Given the description of an element on the screen output the (x, y) to click on. 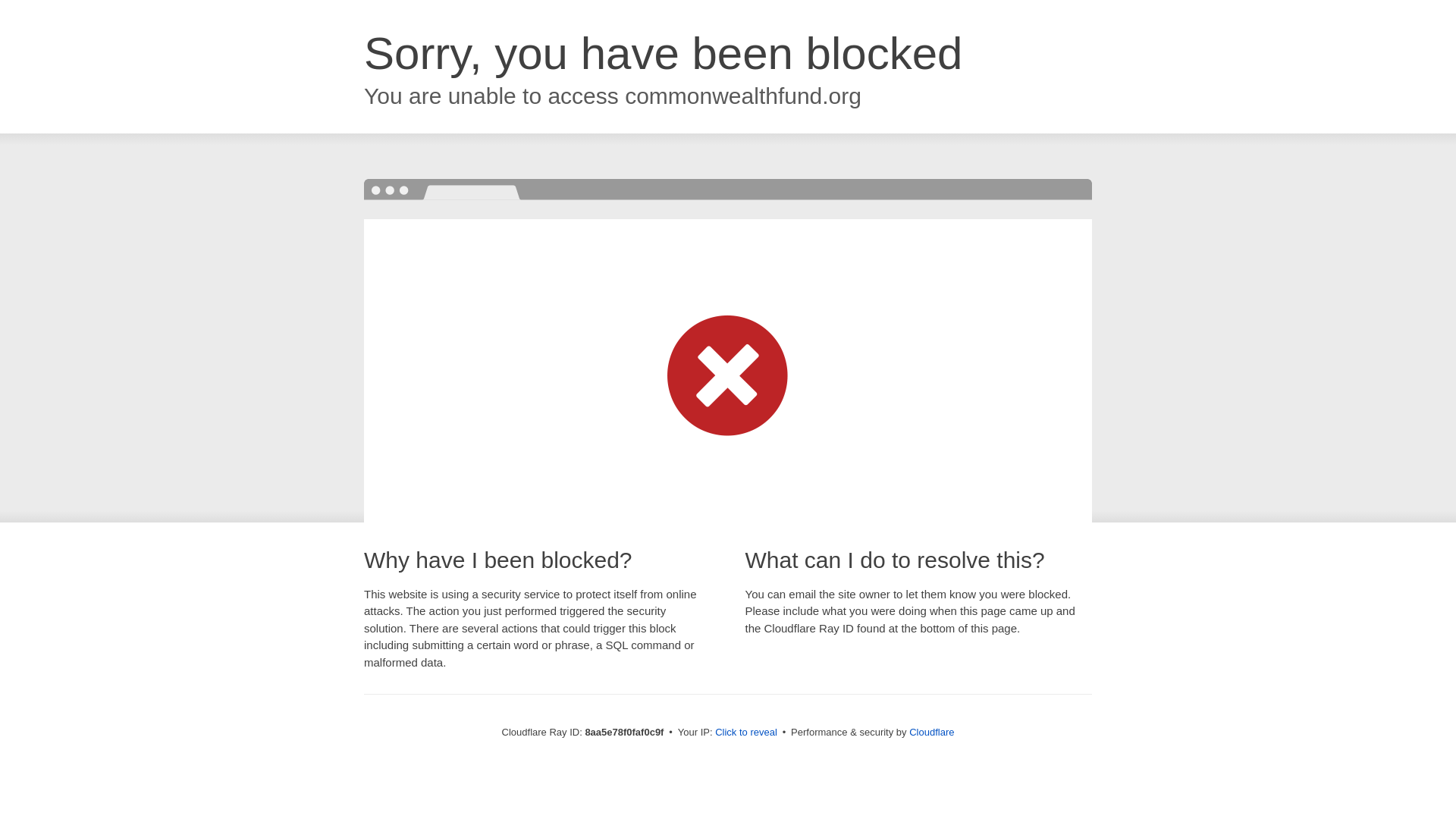
Click to reveal (745, 732)
Cloudflare (930, 731)
